Given the description of an element on the screen output the (x, y) to click on. 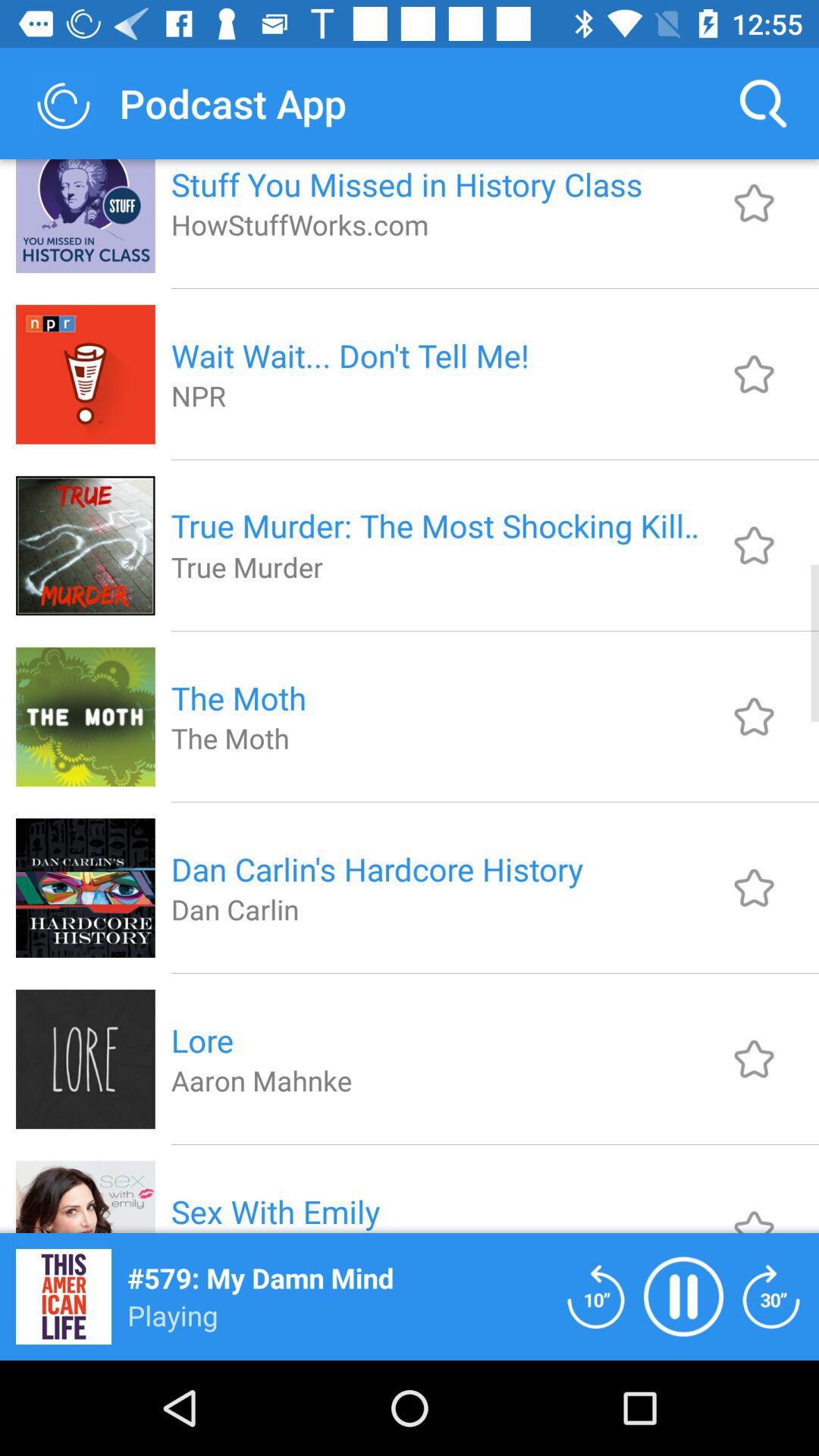
favorite (754, 545)
